Given the description of an element on the screen output the (x, y) to click on. 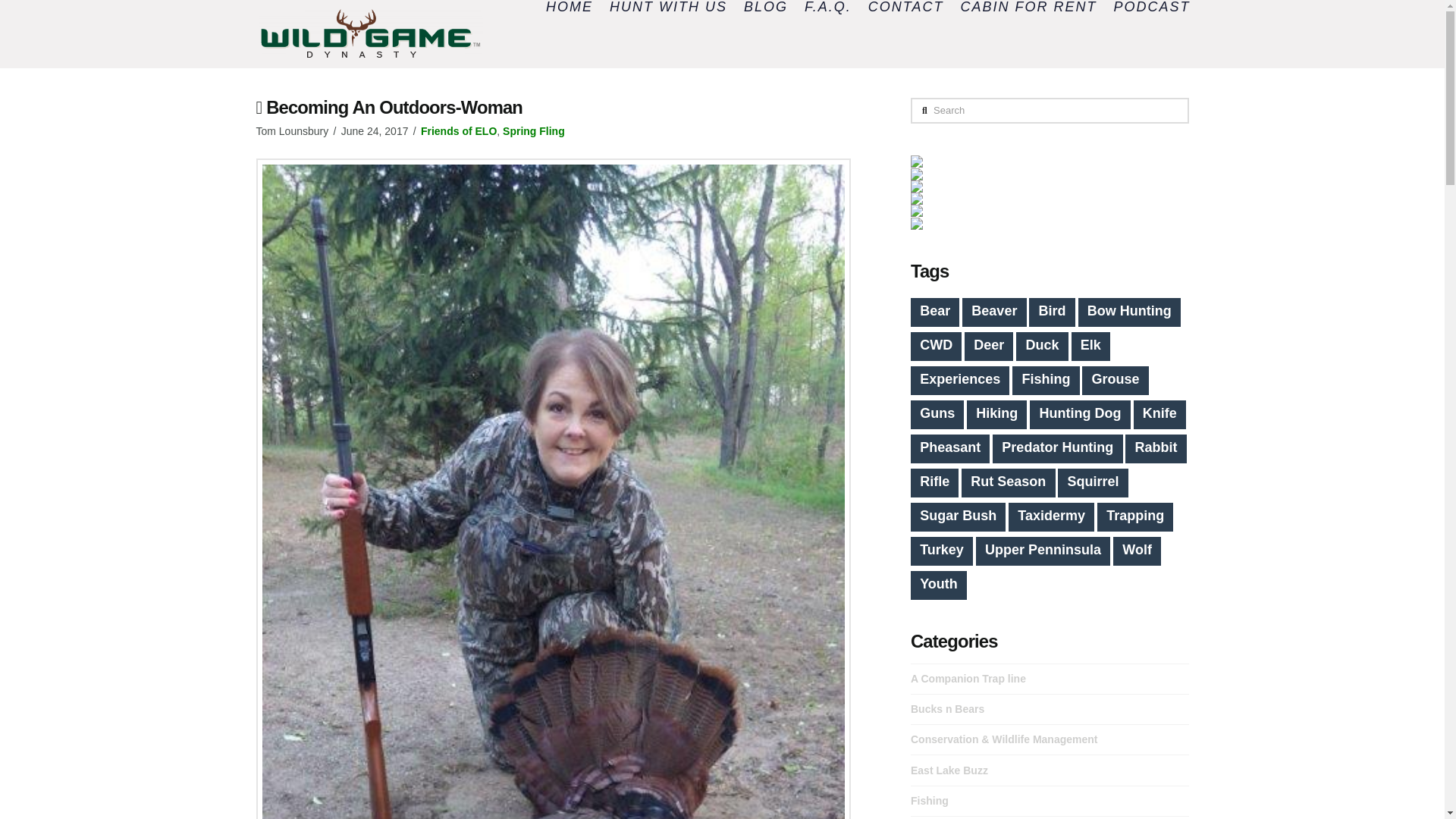
Bird (1051, 312)
CWD (935, 346)
Spring Fling (533, 131)
PODCAST (1145, 8)
Bear (935, 312)
Friends of ELO (458, 131)
CONTACT (905, 8)
HUNT WITH US (667, 8)
HOME (568, 8)
Bow Hunting (1129, 312)
